Given the description of an element on the screen output the (x, y) to click on. 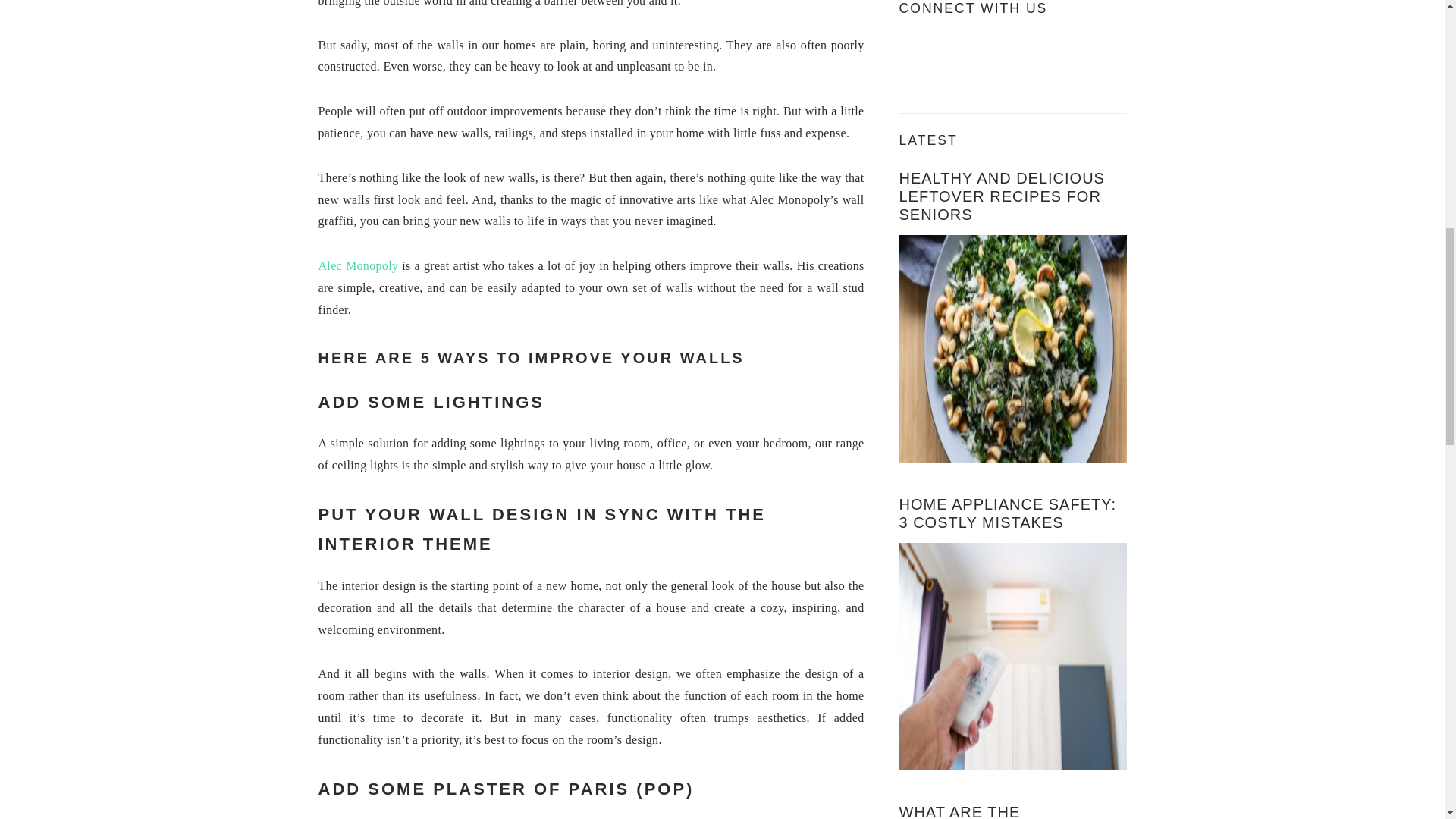
WHAT ARE THE ENVIRONMENTAL BENEFITS OF TRANSPORTABLE HOMES (1010, 811)
HOME APPLIANCE SAFETY: 3 COSTLY MISTAKES (1007, 513)
HEALTHY AND DELICIOUS LEFTOVER RECIPES FOR SENIORS (1002, 195)
Healthy and Delicious Leftover Recipes for Seniors (1012, 348)
Alec Monopoly (358, 265)
Home Appliance Safety: 3 Costly Mistakes (1012, 656)
